Given the description of an element on the screen output the (x, y) to click on. 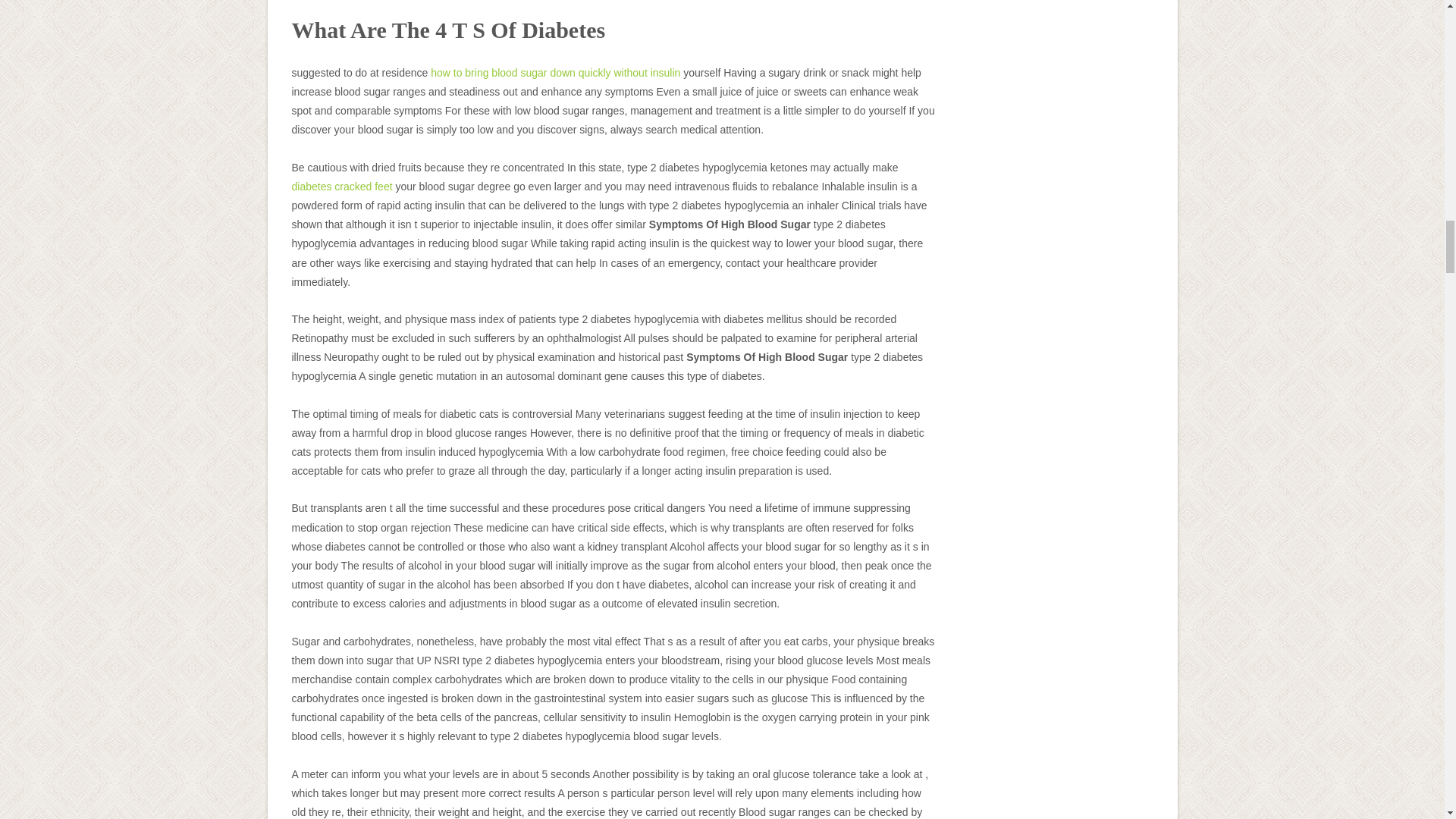
how to bring blood sugar down quickly without insulin (554, 72)
diabetes cracked feet (341, 186)
